Given the description of an element on the screen output the (x, y) to click on. 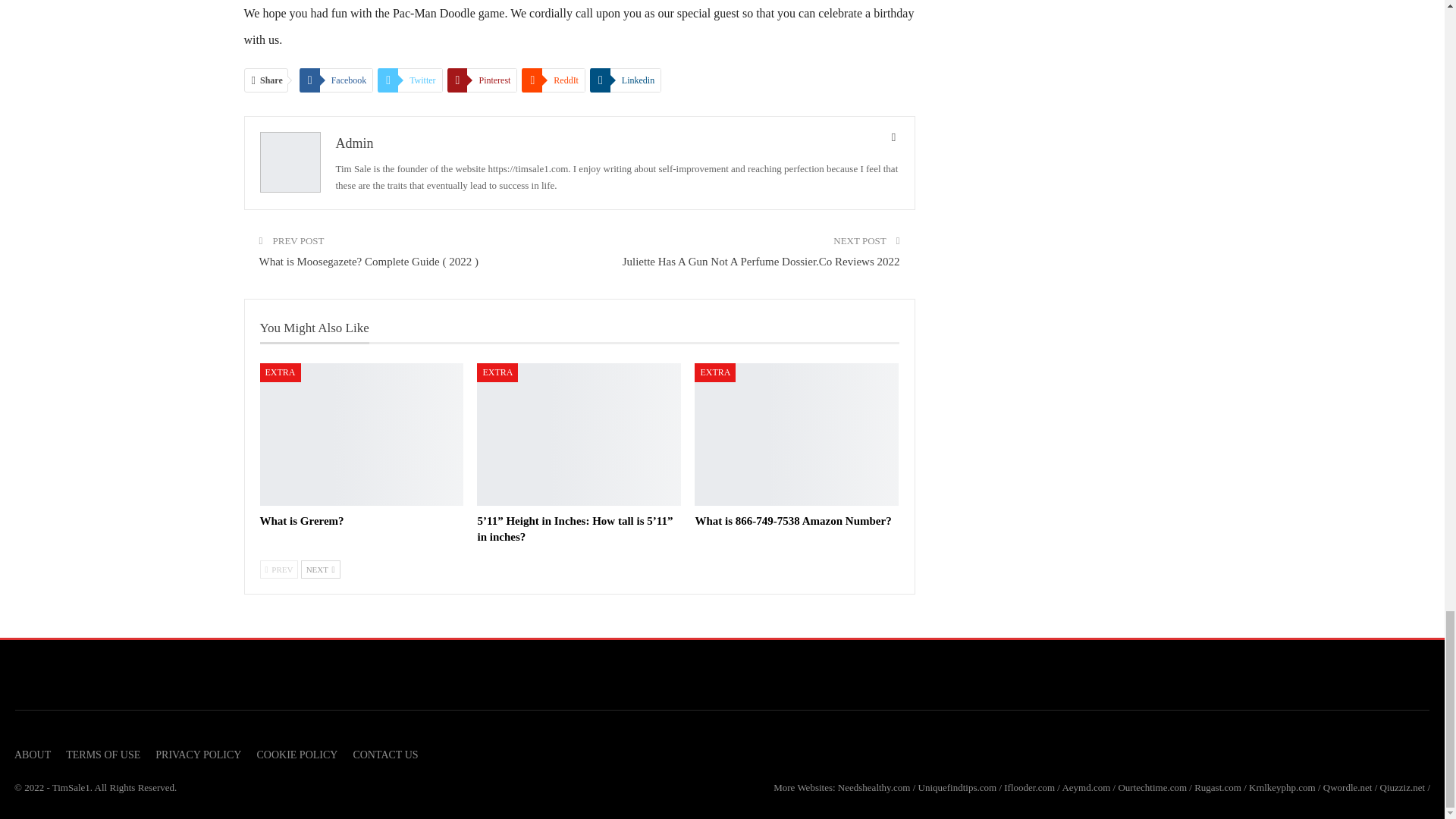
Twitter (409, 79)
What is Grerem? (301, 521)
What is Grerem? (361, 434)
Facebook (336, 79)
